Given the description of an element on the screen output the (x, y) to click on. 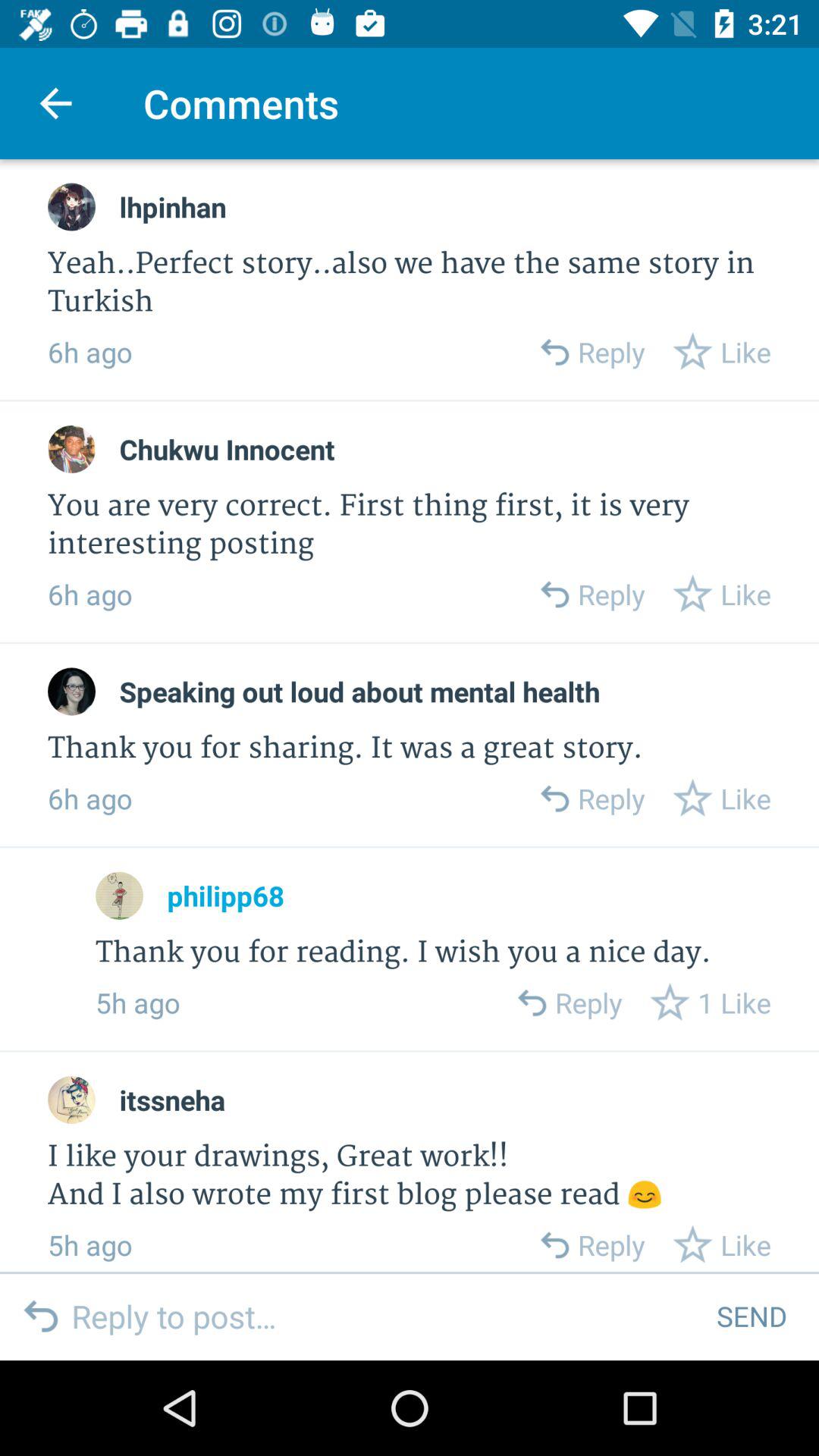
profile (71, 691)
